Given the description of an element on the screen output the (x, y) to click on. 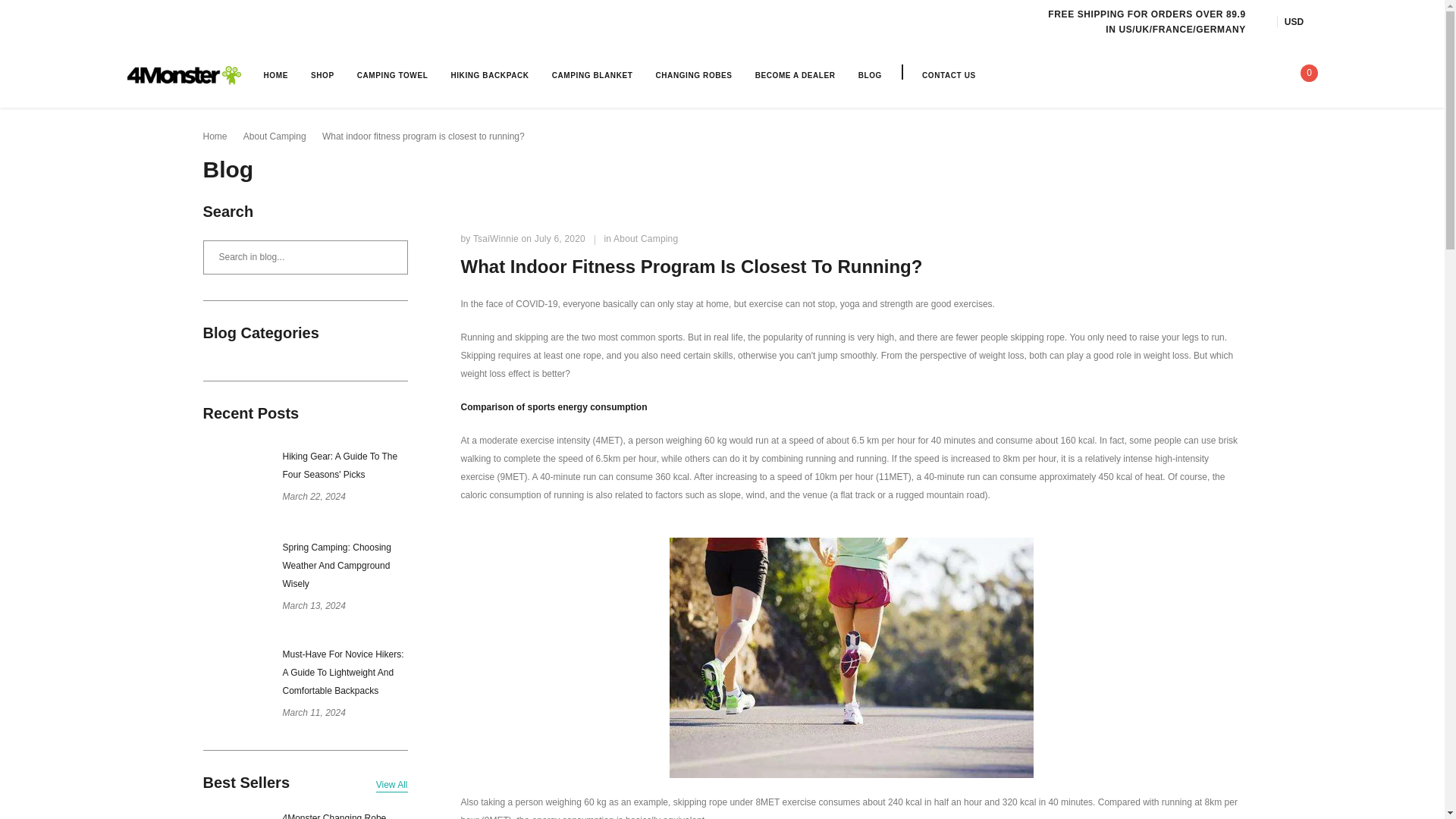
USD (1300, 21)
HIKING BACKPACK (488, 75)
SHOP (322, 75)
CAMPING TOWEL (392, 75)
CHANGING ROBES (693, 75)
BLOG (870, 75)
0 (1303, 74)
BECOME A DEALER (795, 75)
HOME (275, 75)
CONTACT US (948, 75)
